Given the description of an element on the screen output the (x, y) to click on. 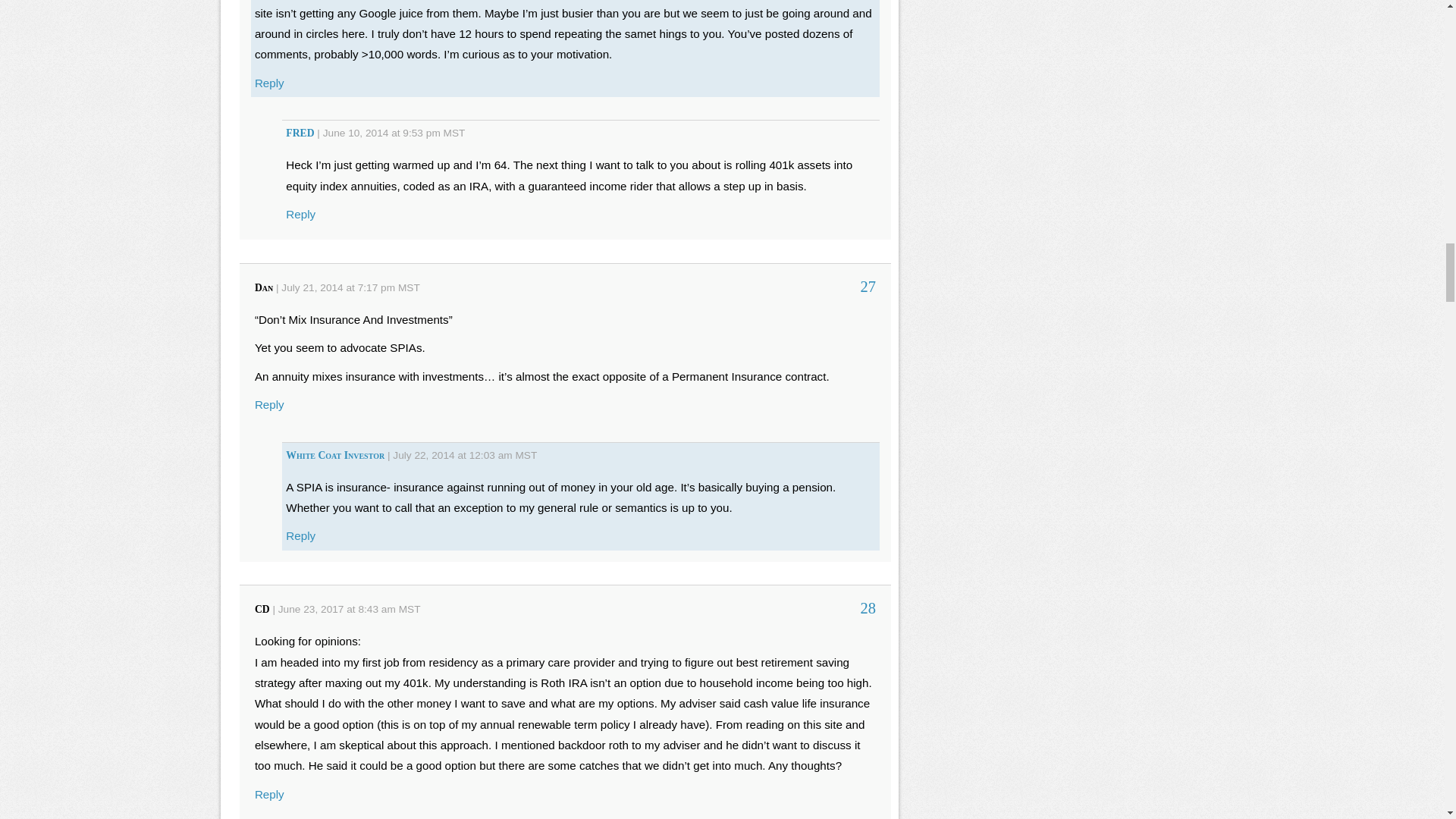
Mountain Standard Time (408, 287)
Mountain Standard Time (454, 132)
Mountain Standard Time (526, 455)
Mountain Standard Time (409, 609)
